Given the description of an element on the screen output the (x, y) to click on. 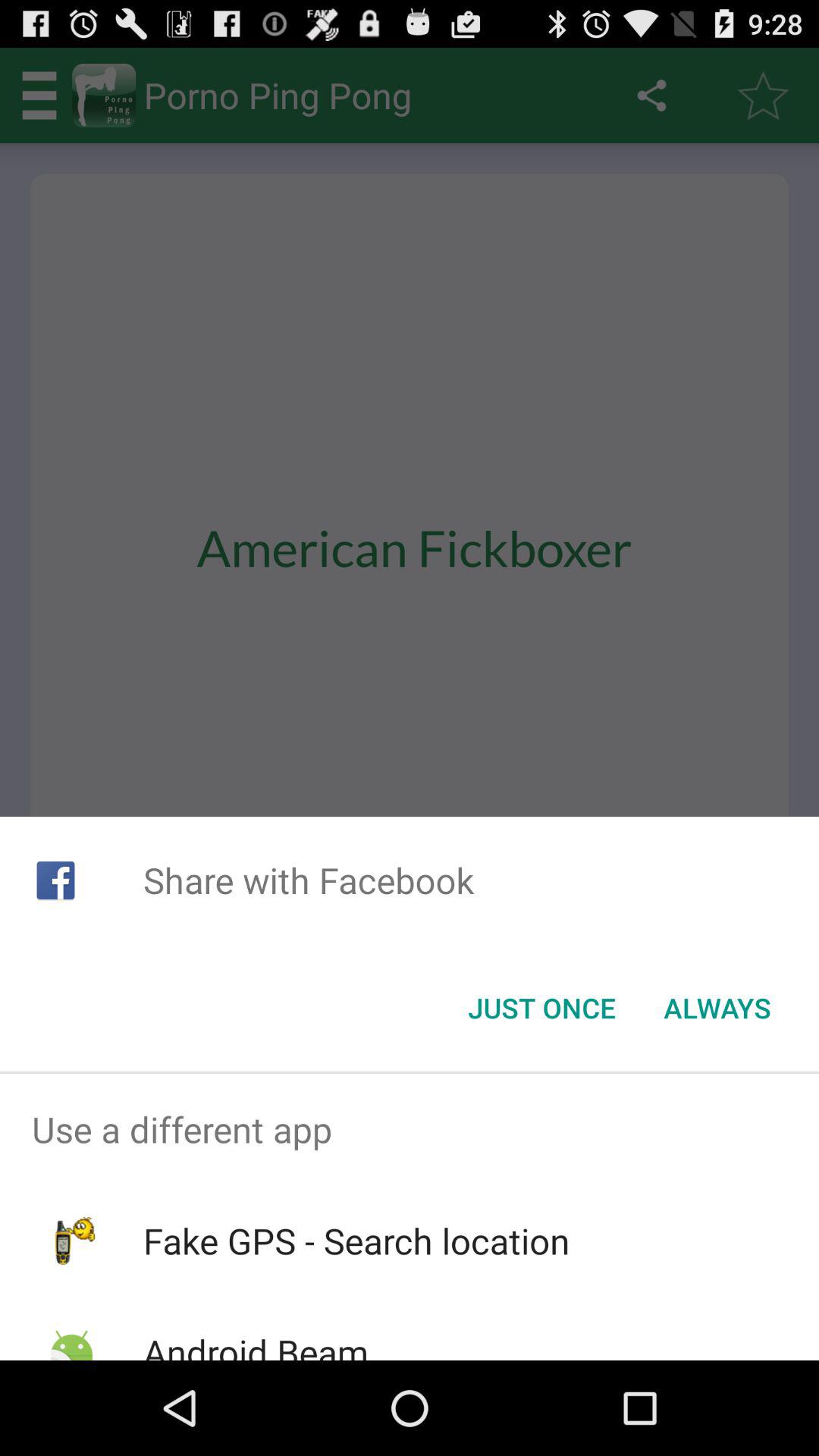
jump until the just once item (541, 1007)
